Given the description of an element on the screen output the (x, y) to click on. 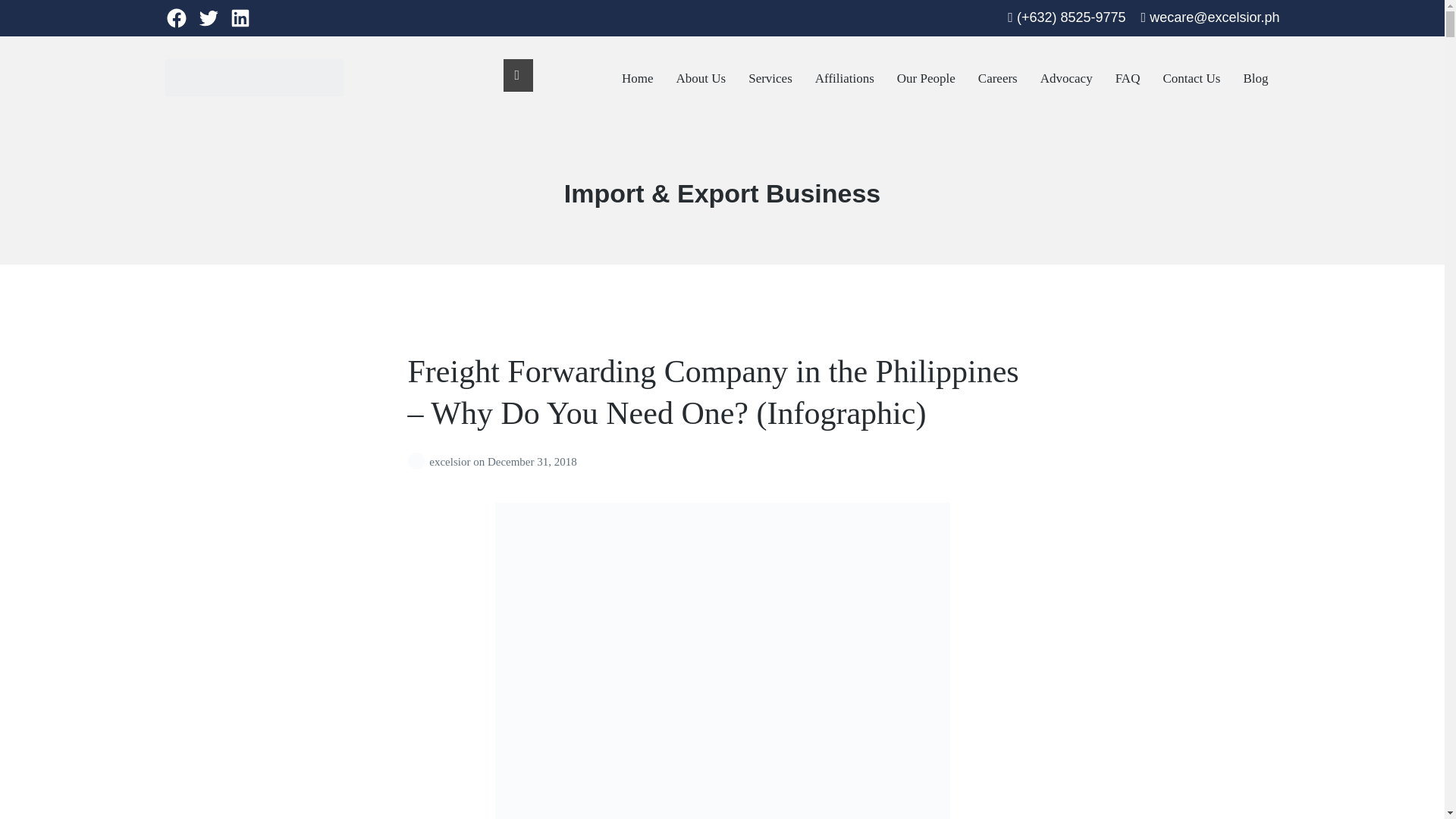
Home (637, 78)
Affiliations (845, 78)
Blog (1255, 78)
Advocacy (1067, 78)
Services (770, 78)
Excelsior Worldwide Logistics Corp. (311, 107)
Contact Us (1190, 78)
Posts by excelsior (418, 461)
Our People (925, 78)
FAQ (1127, 78)
